Given the description of an element on the screen output the (x, y) to click on. 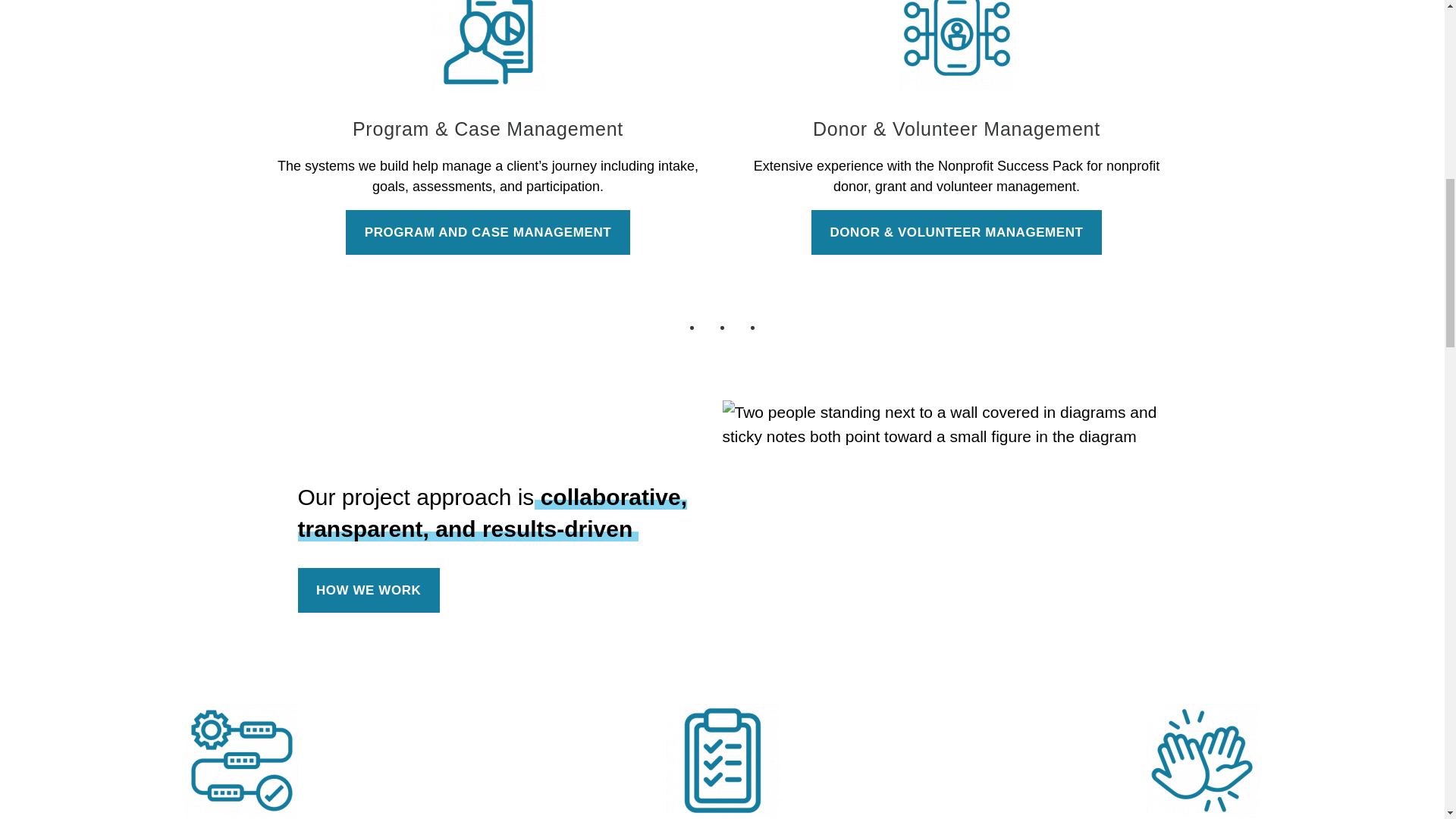
PROGRAM AND CASE MANAGEMENT (487, 231)
HOW WE WORK (368, 590)
